Given the description of an element on the screen output the (x, y) to click on. 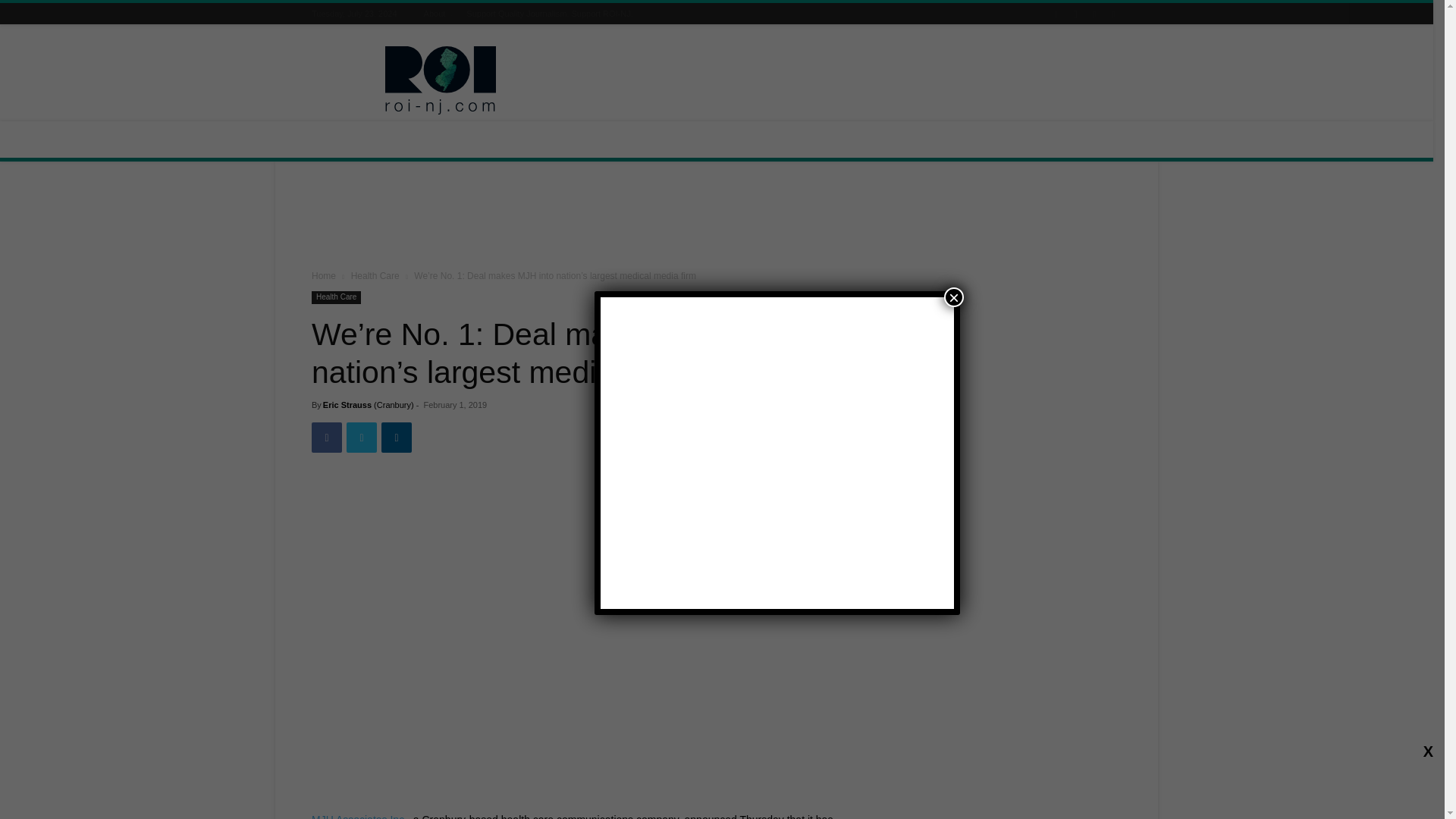
Facebook (326, 437)
Linkedin (396, 437)
3rd party ad content (716, 218)
3rd party ad content (845, 79)
View all posts in Health Care (374, 276)
Twitter (361, 437)
